Given the description of an element on the screen output the (x, y) to click on. 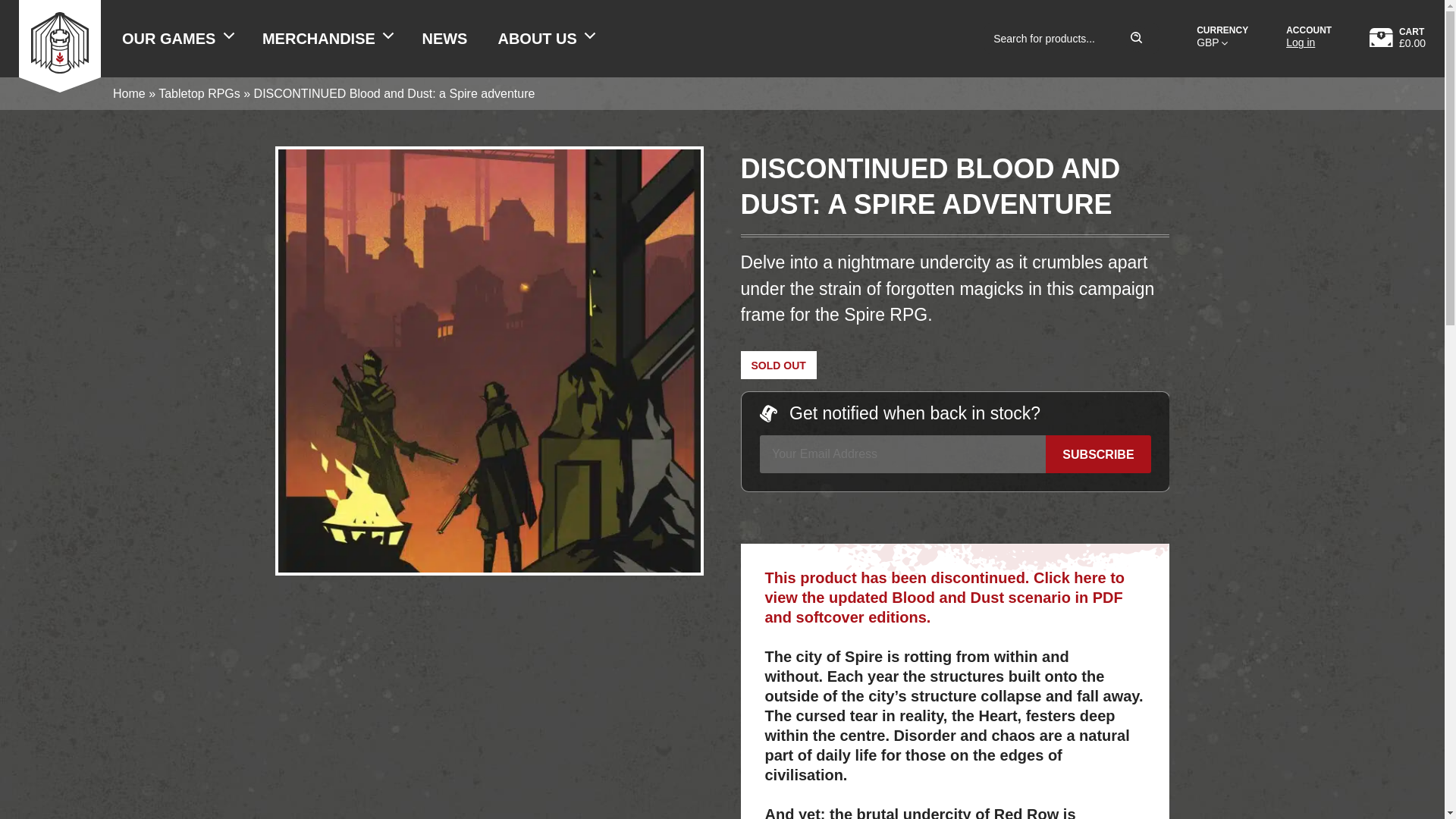
OUR GAMES (177, 38)
MERCHANDISE (327, 38)
Red Row (489, 562)
Rowan Rook and Decard (59, 38)
